Given the description of an element on the screen output the (x, y) to click on. 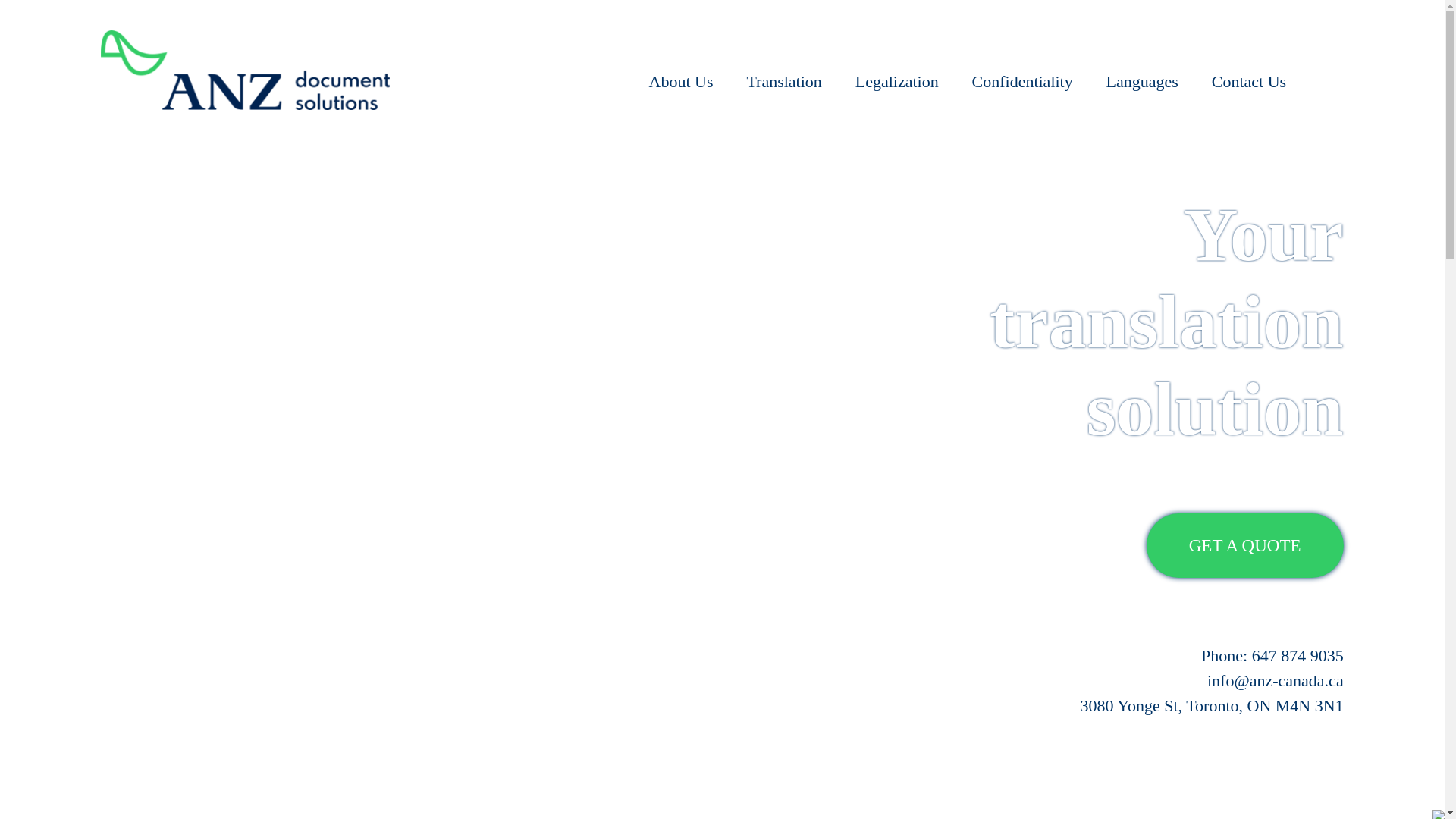
GET A QUOTE Element type: text (1244, 545)
Translation Element type: text (783, 73)
Legalization Element type: text (896, 73)
About Us Element type: text (681, 73)
Languages Element type: text (1142, 73)
Confidentiality Element type: text (1022, 73)
Contact Us Element type: text (1248, 73)
